Given the description of an element on the screen output the (x, y) to click on. 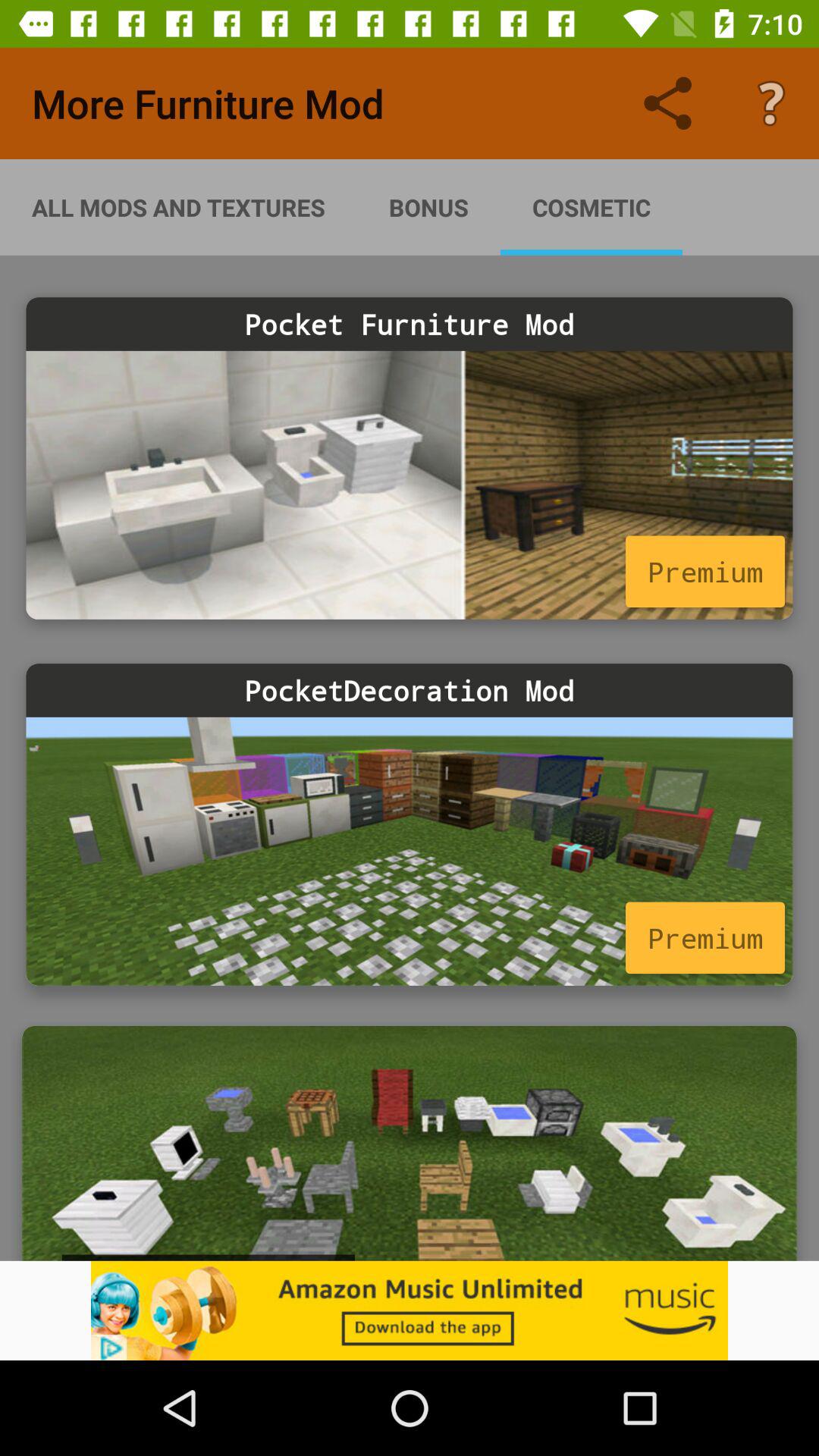
view more information (409, 851)
